Given the description of an element on the screen output the (x, y) to click on. 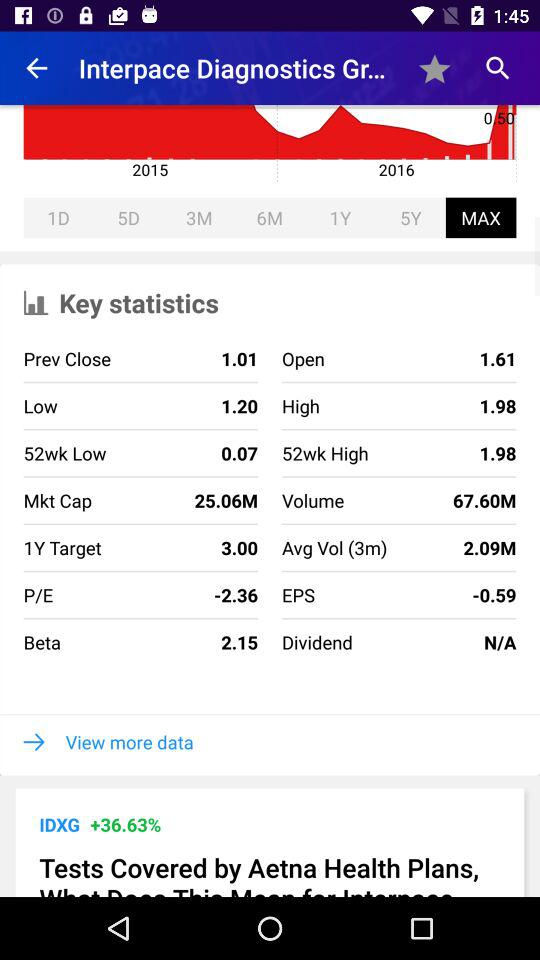
open tests covered by icon (269, 873)
